Given the description of an element on the screen output the (x, y) to click on. 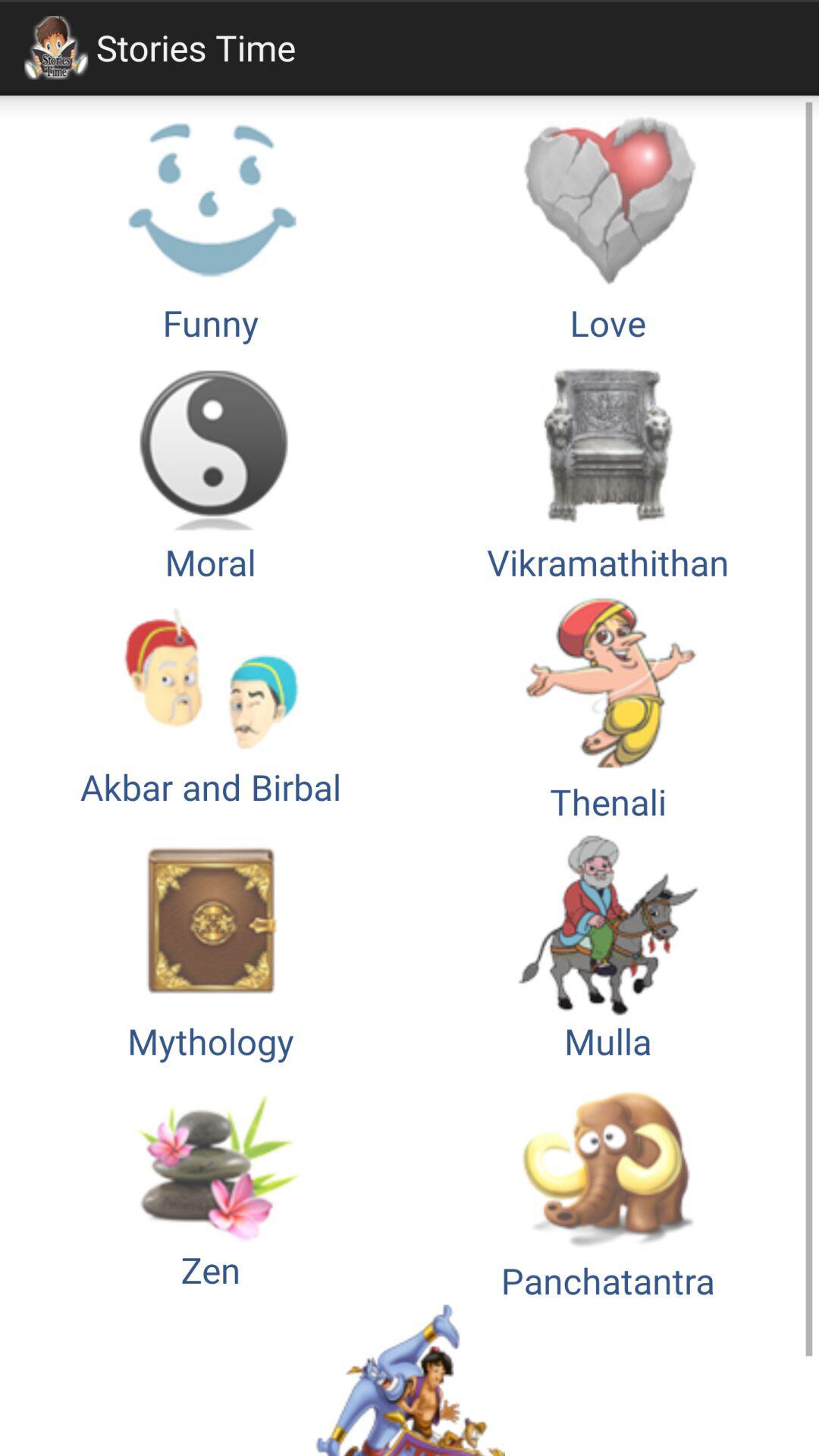
tap the button above the tales (608, 1184)
